Given the description of an element on the screen output the (x, y) to click on. 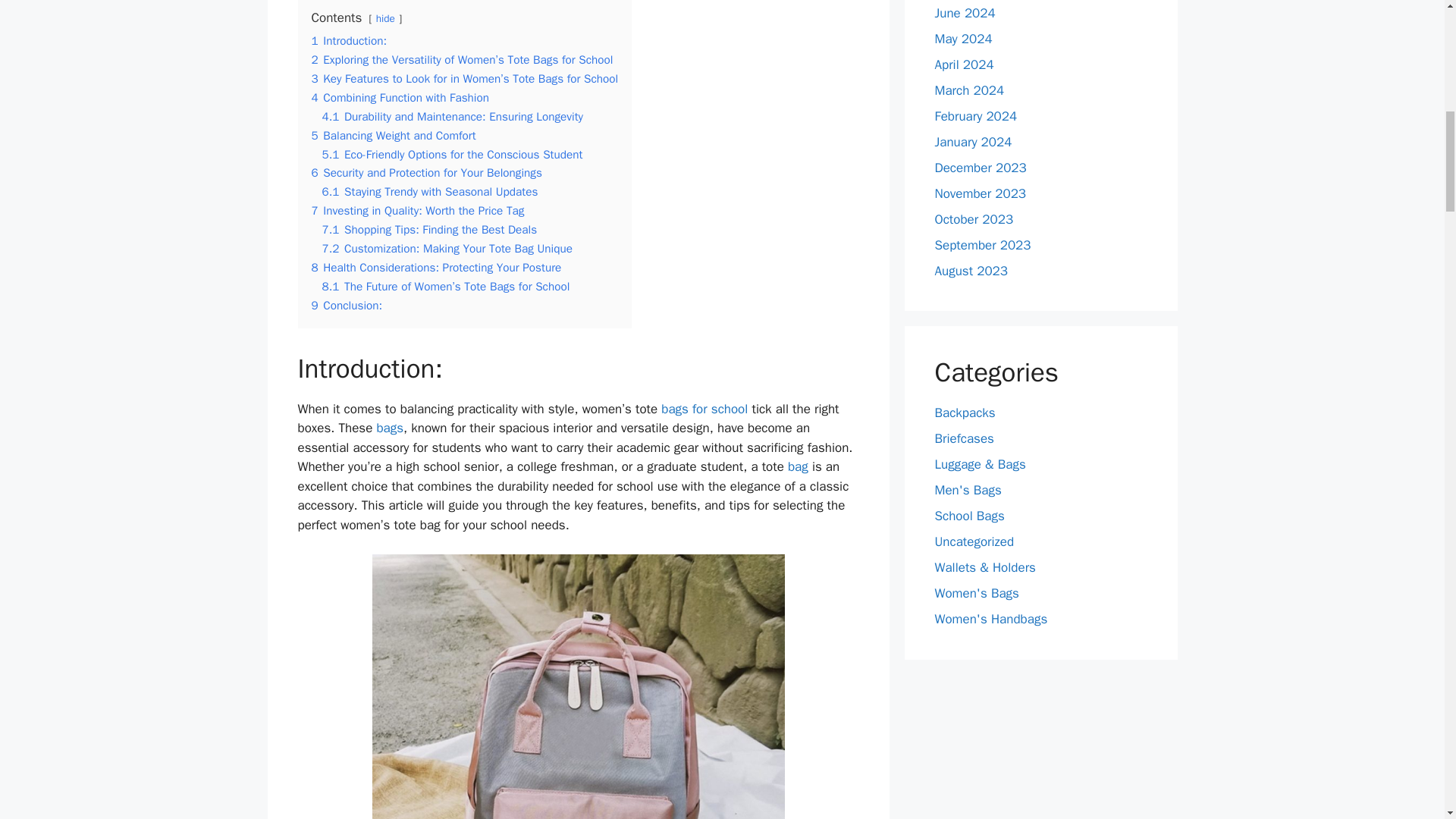
6.1 Staying Trendy with Seasonal Updates (429, 191)
7 Investing in Quality: Worth the Price Tag (417, 210)
4 Combining Function with Fashion (400, 97)
7.1 Shopping Tips: Finding the Best Deals (429, 229)
4.1 Durability and Maintenance: Ensuring Longevity (452, 116)
9 Conclusion: (346, 305)
7.2 Customization: Making Your Tote Bag Unique (446, 248)
8 Health Considerations: Protecting Your Posture (435, 267)
hide (384, 18)
5.1 Eco-Friendly Options for the Conscious Student (451, 154)
5 Balancing Weight and Comfort (393, 135)
bags (389, 427)
bag (797, 466)
bags for school (704, 408)
6 Security and Protection for Your Belongings (426, 172)
